Given the description of an element on the screen output the (x, y) to click on. 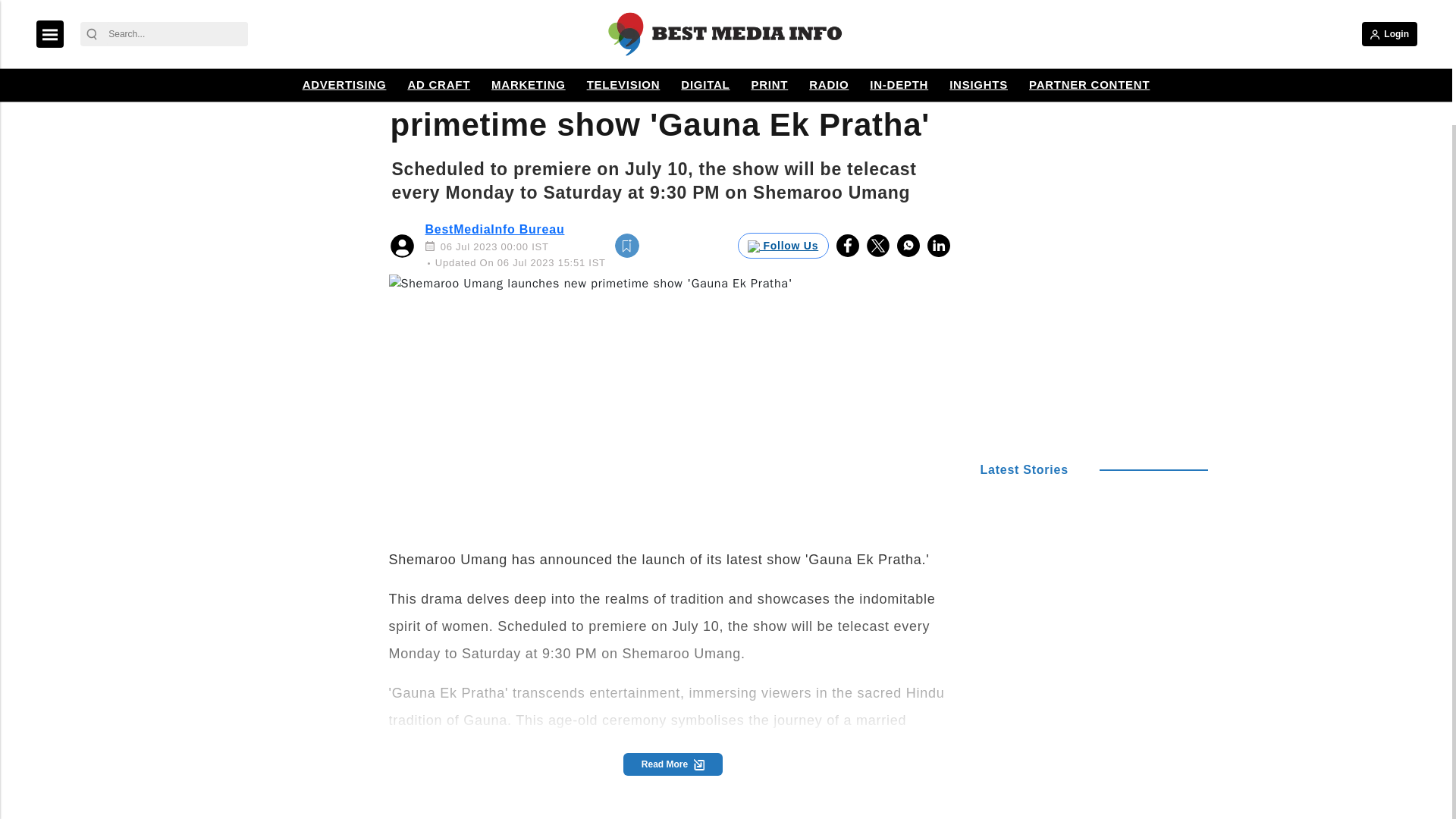
BestMediaInfo Bureau (494, 228)
Follow Us (782, 245)
Television (429, 42)
